Given the description of an element on the screen output the (x, y) to click on. 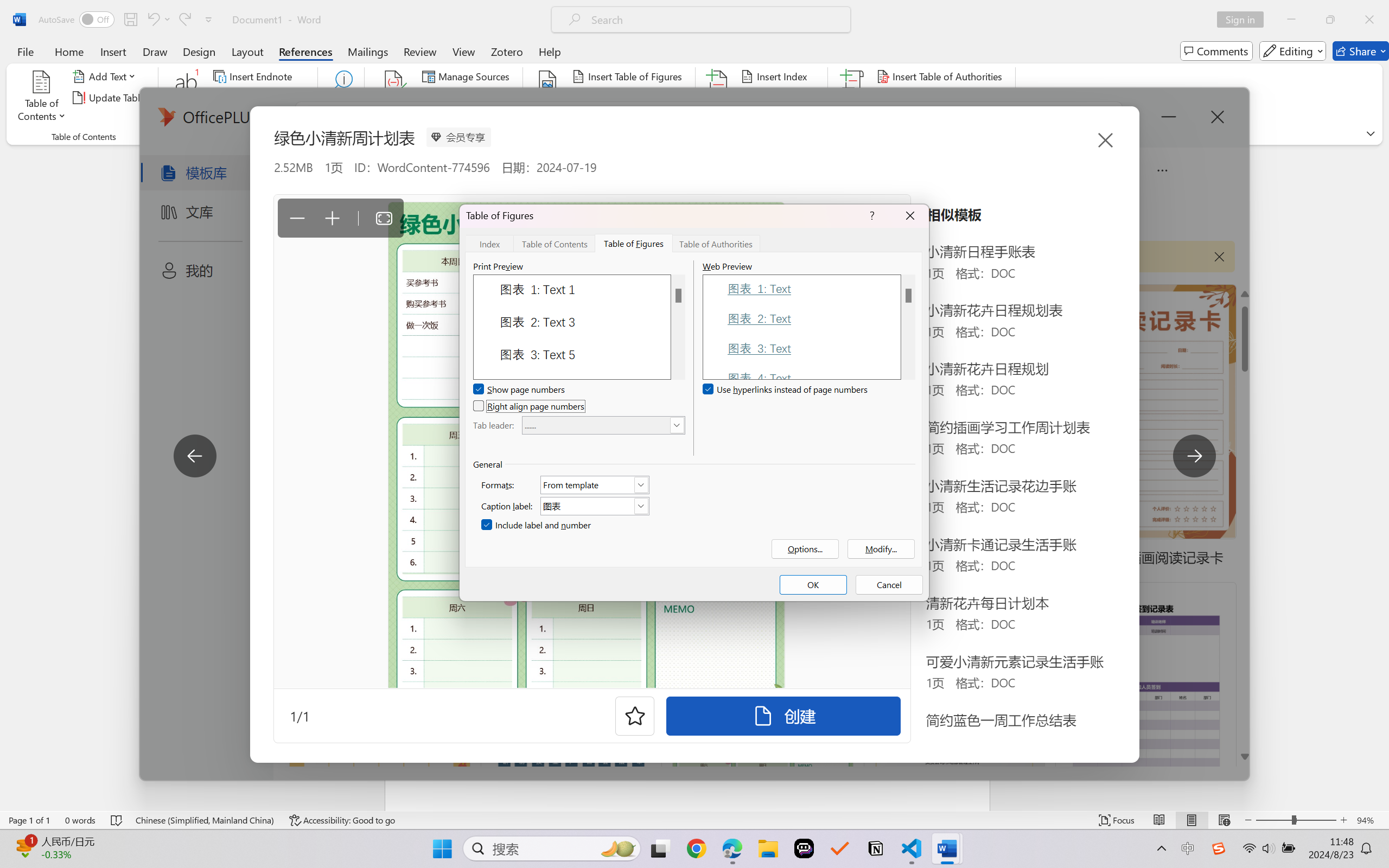
Undo Apply Quick Style Set (152, 19)
AutomationID: 44 (677, 327)
Cancel (889, 584)
